Given the description of an element on the screen output the (x, y) to click on. 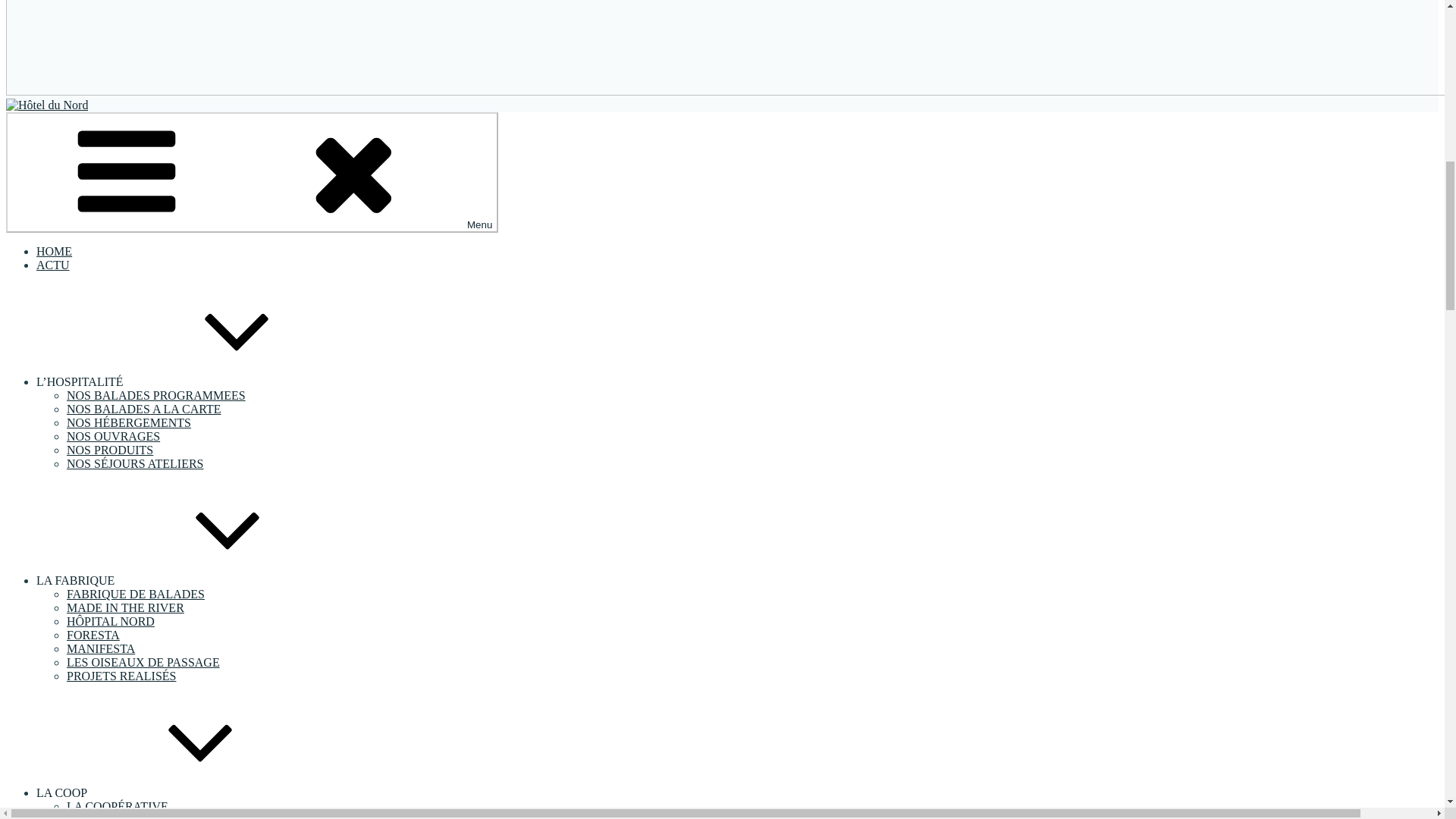
LA FABRIQUE (189, 580)
NOS BALADES A LA CARTE (143, 408)
FORESTA (92, 634)
ACTU (52, 264)
LES OISEAUX DE PASSAGE (142, 662)
MANIFESTA (100, 648)
LA COOP (175, 792)
Menu (251, 172)
MADE IN THE RIVER (125, 607)
FABRIQUE DE BALADES (135, 594)
